Given the description of an element on the screen output the (x, y) to click on. 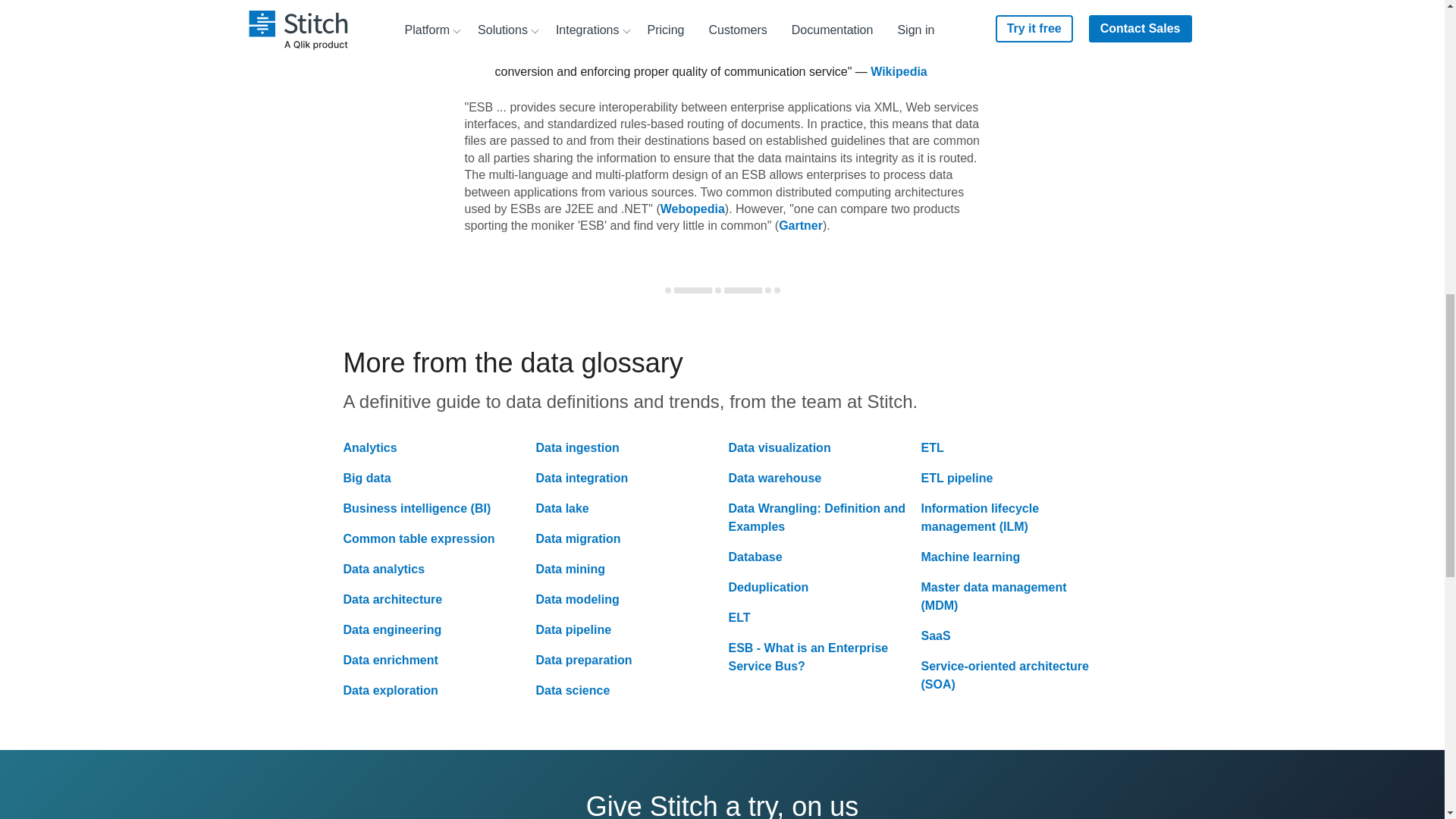
Data exploration (390, 689)
Data architecture (392, 599)
Wikipedia (898, 71)
Data enrichment (390, 659)
Common table expression (418, 538)
Big data (366, 477)
Analytics (369, 447)
Data analytics (383, 568)
Data engineering (391, 629)
Gartner (800, 225)
